Given the description of an element on the screen output the (x, y) to click on. 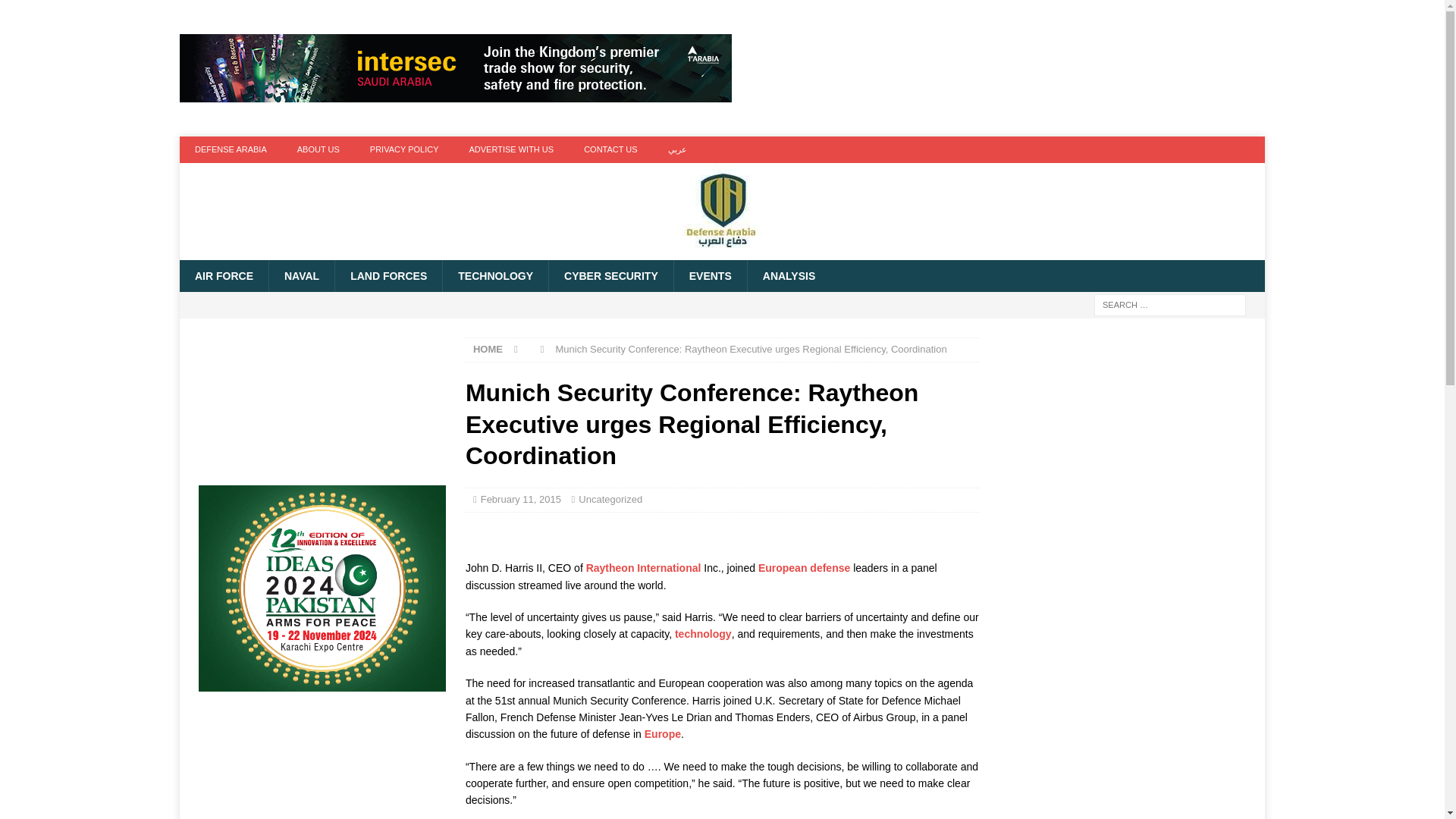
DEFENSE ARABIA (230, 149)
CYBER SECURITY (610, 275)
ADVERTISE WITH US (510, 149)
NAVAL (300, 275)
technology (703, 633)
HOME (487, 348)
EVENTS (709, 275)
ABOUT US (318, 149)
PRIVACY POLICY (404, 149)
Defense Arabia (721, 251)
defense (829, 567)
Search (56, 11)
ANALYSIS (788, 275)
February 11, 2015 (520, 499)
CONTACT US (610, 149)
